Given the description of an element on the screen output the (x, y) to click on. 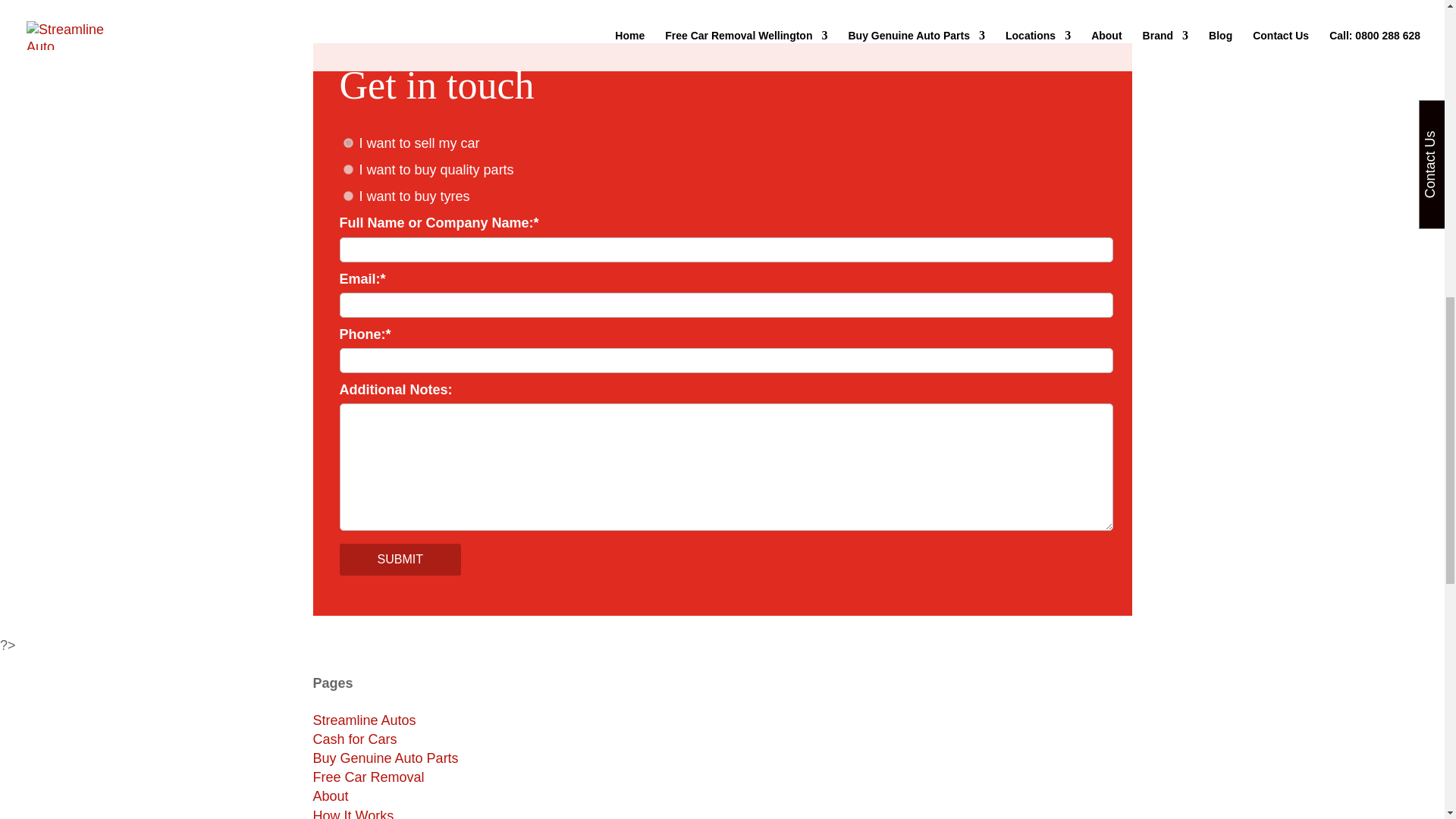
I want to sell my car (347, 143)
Submit (400, 559)
I want to buy quality parts (347, 169)
I want to buy tyres (347, 195)
